Given the description of an element on the screen output the (x, y) to click on. 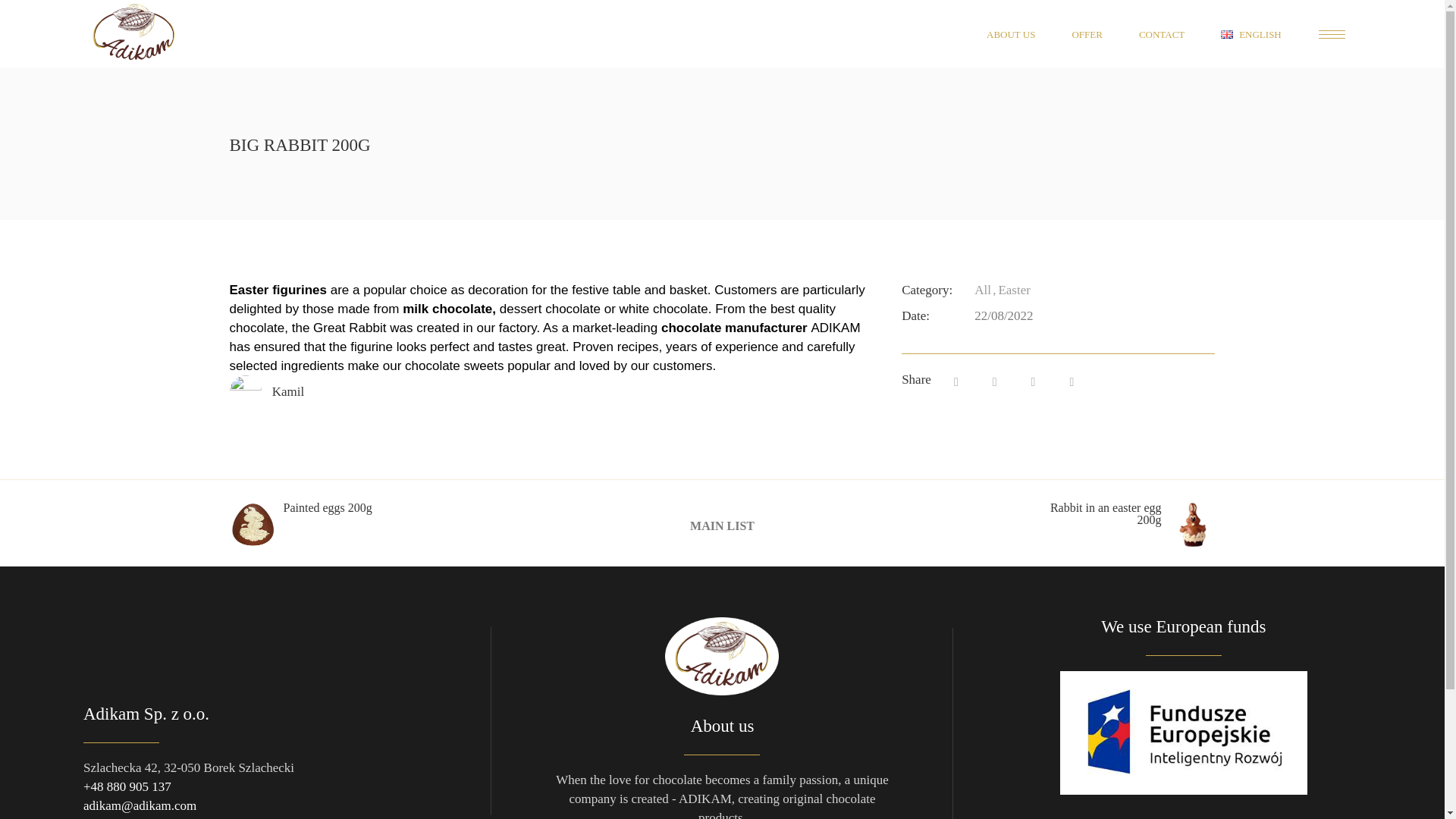
Painted eggs 200g (313, 524)
CONTACT (1161, 33)
Kamil (288, 391)
Easter (1012, 289)
All (982, 289)
ABOUT US (1010, 33)
ENGLISH (1251, 33)
OFFER (1085, 33)
